Given the description of an element on the screen output the (x, y) to click on. 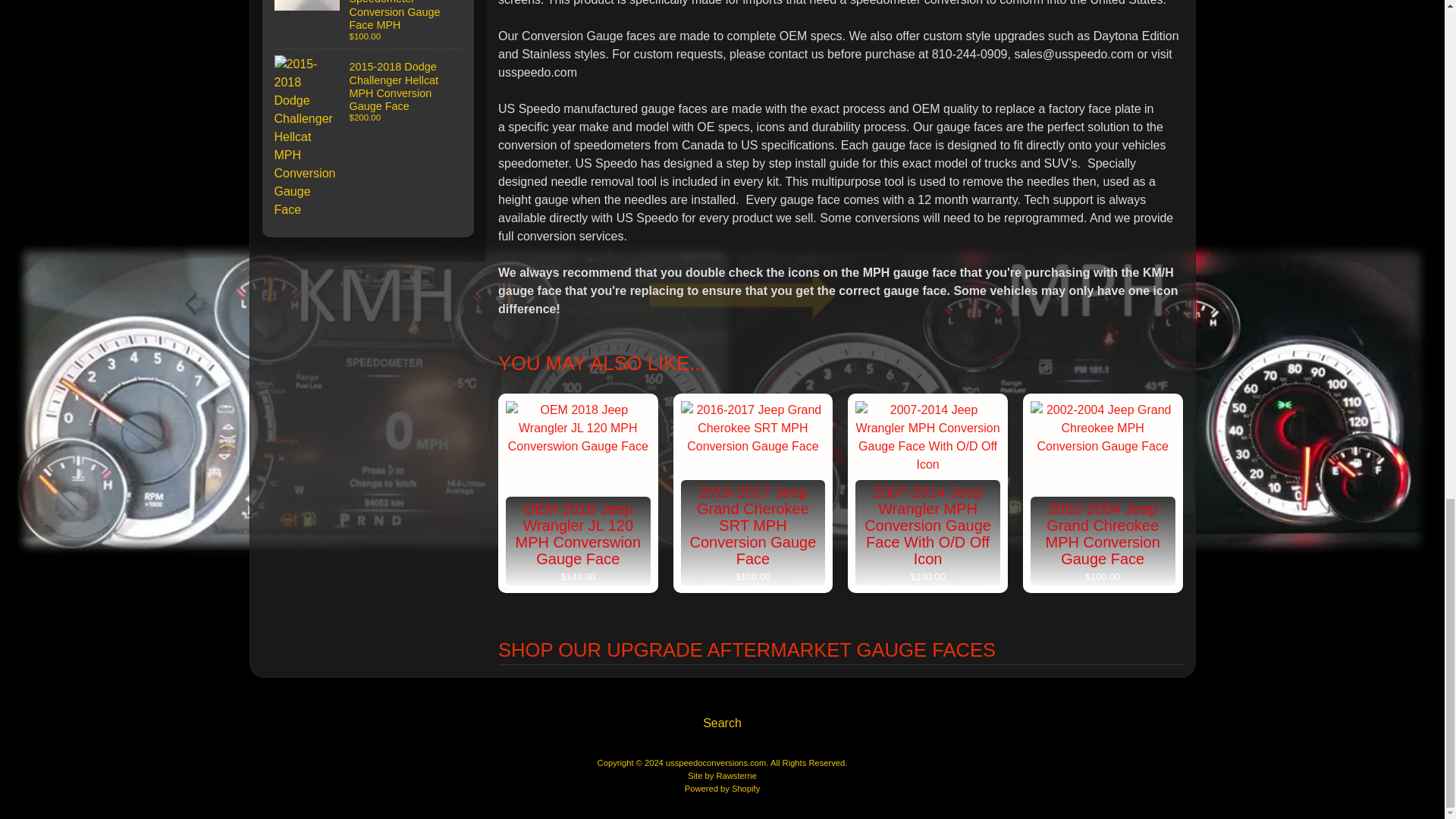
SHOP OUR UPGRADE AFTERMARKET GAUGE FACES (839, 638)
SHOP OUR UPGRADE AFTERMARKET GAUGE FACES (839, 650)
2015-2018 Dodge Challenger Hellcat MPH Conversion Gauge Face (369, 137)
